Given the description of an element on the screen output the (x, y) to click on. 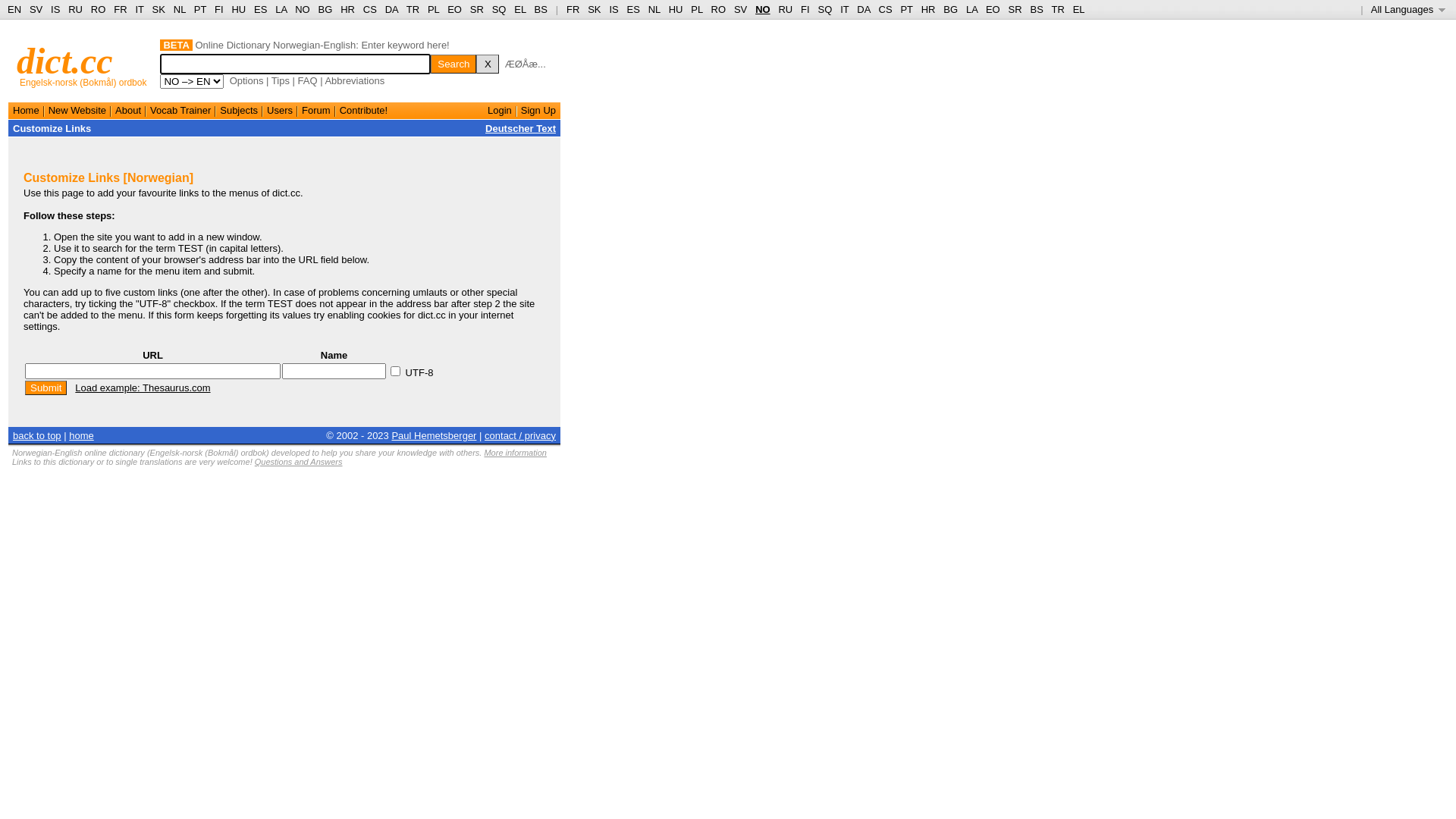
RU Element type: text (75, 9)
ES Element type: text (260, 9)
FR Element type: text (119, 9)
DA Element type: text (391, 9)
X Element type: text (487, 63)
TR Element type: text (1057, 9)
DA Element type: text (862, 9)
CS Element type: text (369, 9)
Sign Up Element type: text (537, 110)
SK Element type: text (158, 9)
PL Element type: text (433, 9)
RO Element type: text (718, 9)
Vocab Trainer Element type: text (180, 110)
SV Element type: text (35, 9)
About Element type: text (128, 110)
BS Element type: text (540, 9)
RO Element type: text (98, 9)
dict.cc Element type: text (64, 60)
EN Element type: text (14, 9)
SR Element type: text (476, 9)
Options Element type: text (246, 80)
NO Element type: text (302, 9)
BS Element type: text (1035, 9)
IS Element type: text (54, 9)
Forum Element type: text (315, 110)
HR Element type: text (347, 9)
contact / privacy Element type: text (519, 434)
NL Element type: text (654, 9)
LA Element type: text (280, 9)
SQ Element type: text (824, 9)
EO Element type: text (992, 9)
All Languages  Element type: text (1408, 9)
Submit Element type: text (45, 387)
NO Element type: text (762, 9)
CS Element type: text (884, 9)
SK Element type: text (593, 9)
PL Element type: text (696, 9)
FR Element type: text (572, 9)
PT Element type: text (906, 9)
Deutscher Text Element type: text (520, 128)
IS Element type: text (613, 9)
EL Element type: text (1079, 9)
BG Element type: text (325, 9)
HU Element type: text (238, 9)
FI Element type: text (218, 9)
SQ Element type: text (499, 9)
TR Element type: text (412, 9)
HU Element type: text (675, 9)
back to top Element type: text (36, 434)
HR Element type: text (928, 9)
EL Element type: text (519, 9)
Paul Hemetsberger Element type: text (433, 434)
LA Element type: text (971, 9)
SR Element type: text (1015, 9)
FAQ Element type: text (307, 80)
PT Element type: text (200, 9)
ES Element type: text (633, 9)
FI Element type: text (804, 9)
Subjects Element type: text (238, 110)
Home Element type: text (25, 110)
RU Element type: text (785, 9)
Search Element type: text (453, 63)
Questions and Answers Element type: text (298, 461)
Contribute! Element type: text (363, 110)
SV Element type: text (740, 9)
Load example: Thesaurus.com Element type: text (142, 387)
More information Element type: text (514, 452)
IT Element type: text (844, 9)
Abbreviations Element type: text (354, 80)
NL Element type: text (179, 9)
BG Element type: text (950, 9)
Login Element type: text (499, 110)
IT Element type: text (138, 9)
New Website Element type: text (77, 110)
home Element type: text (81, 434)
EO Element type: text (454, 9)
Tips Element type: text (280, 80)
Users Element type: text (279, 110)
